Given the description of an element on the screen output the (x, y) to click on. 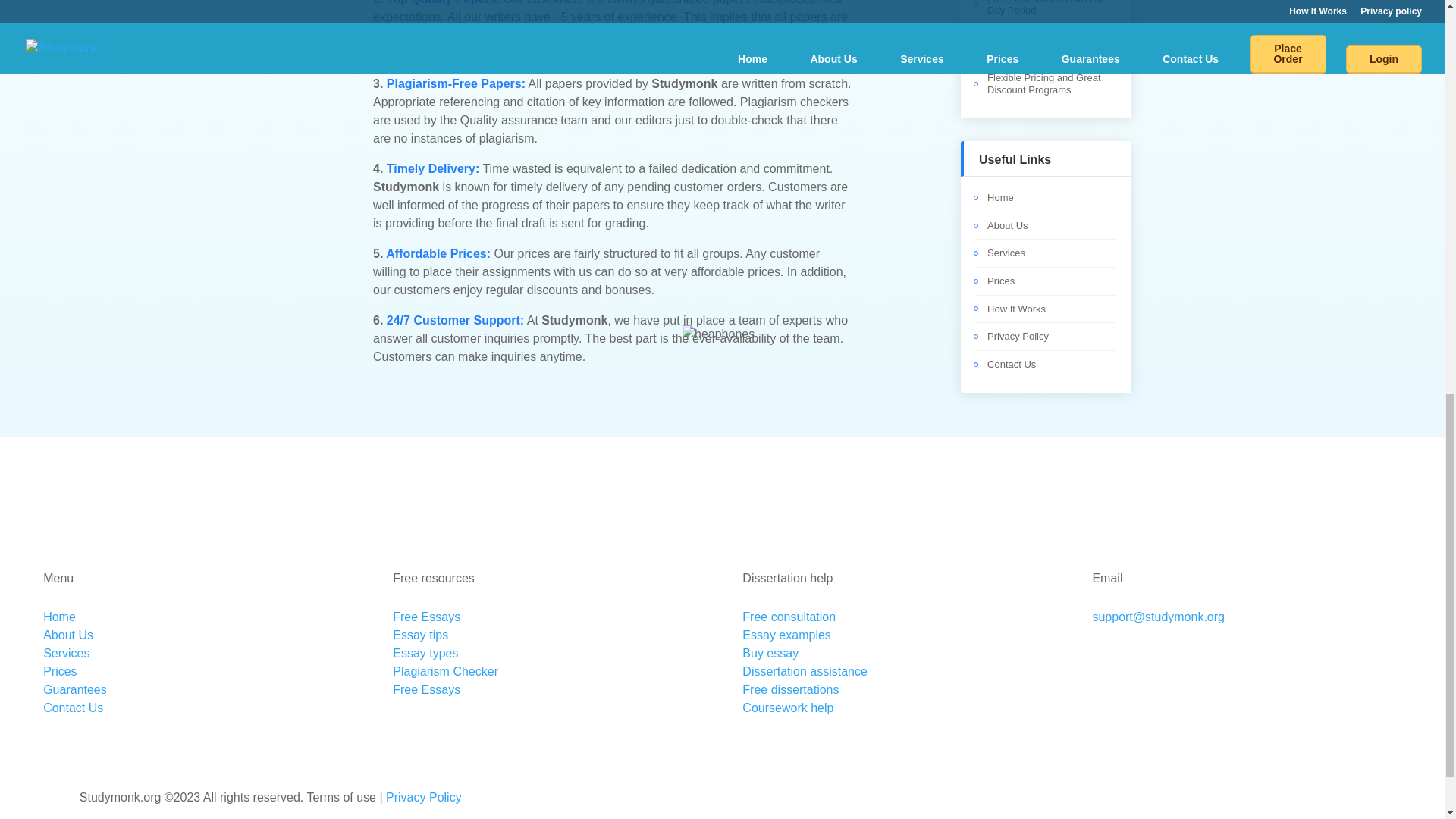
Contact Us (1011, 364)
Free consultation (788, 616)
Twitter (1291, 509)
Guarantees (74, 689)
Services (1006, 252)
Privacy Policy (1017, 336)
Contact Us (73, 707)
Home (1000, 197)
Prices (60, 671)
About Us (1007, 225)
